Given the description of an element on the screen output the (x, y) to click on. 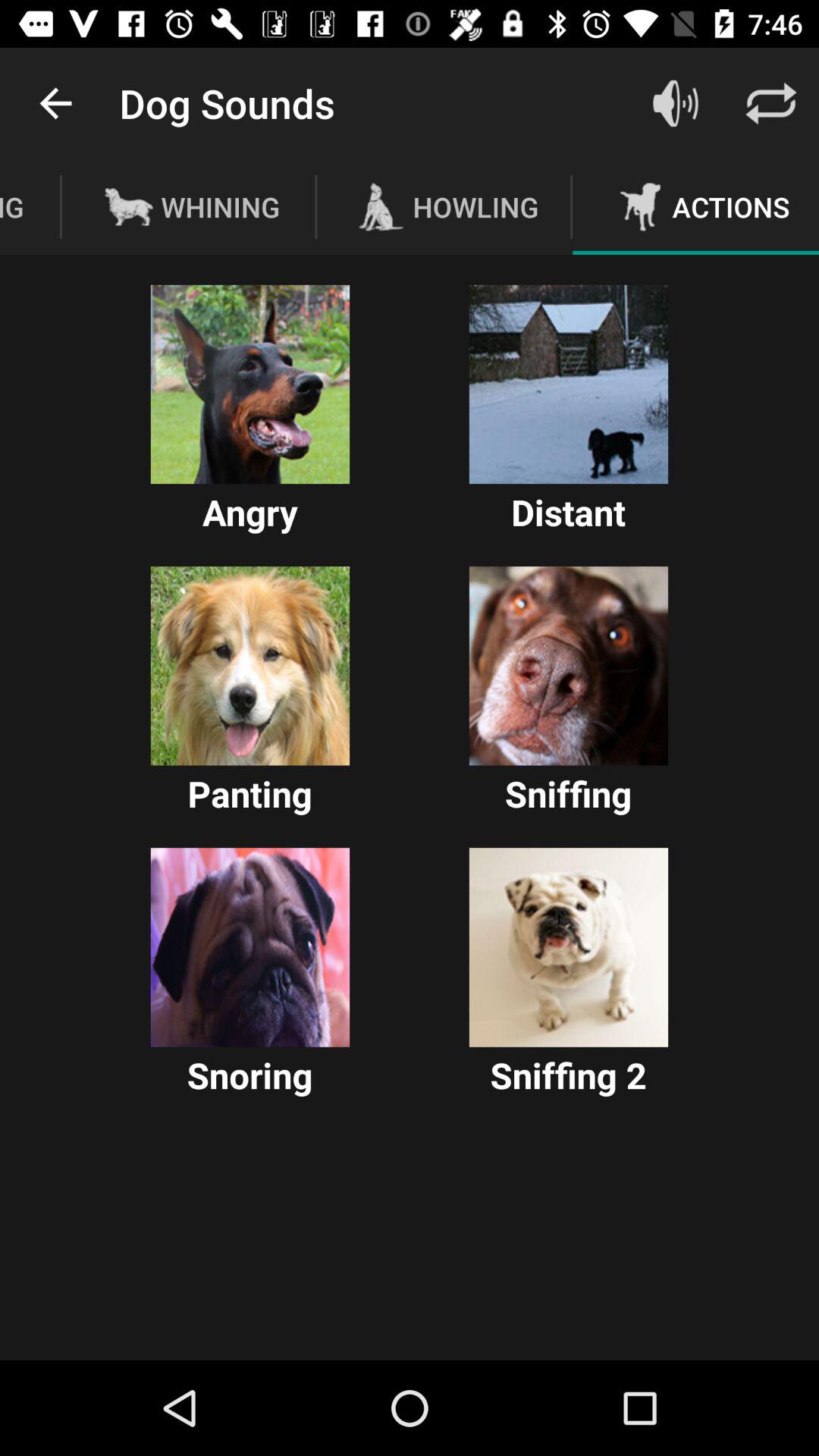
enable option (568, 384)
